Given the description of an element on the screen output the (x, y) to click on. 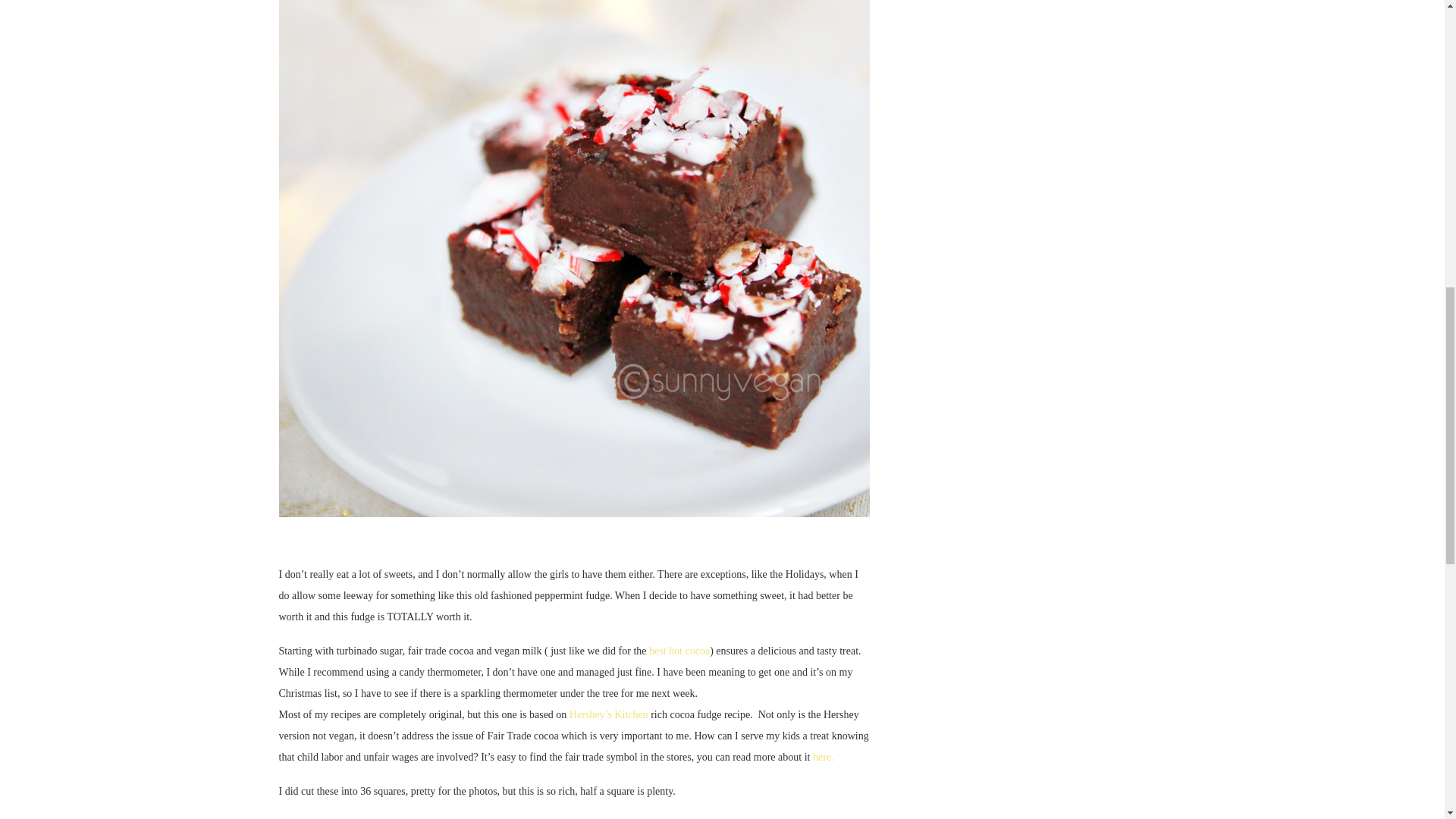
the best vegan hot chocolate, with Torani! (679, 650)
best hot cocoa (679, 650)
here. (823, 756)
